Given the description of an element on the screen output the (x, y) to click on. 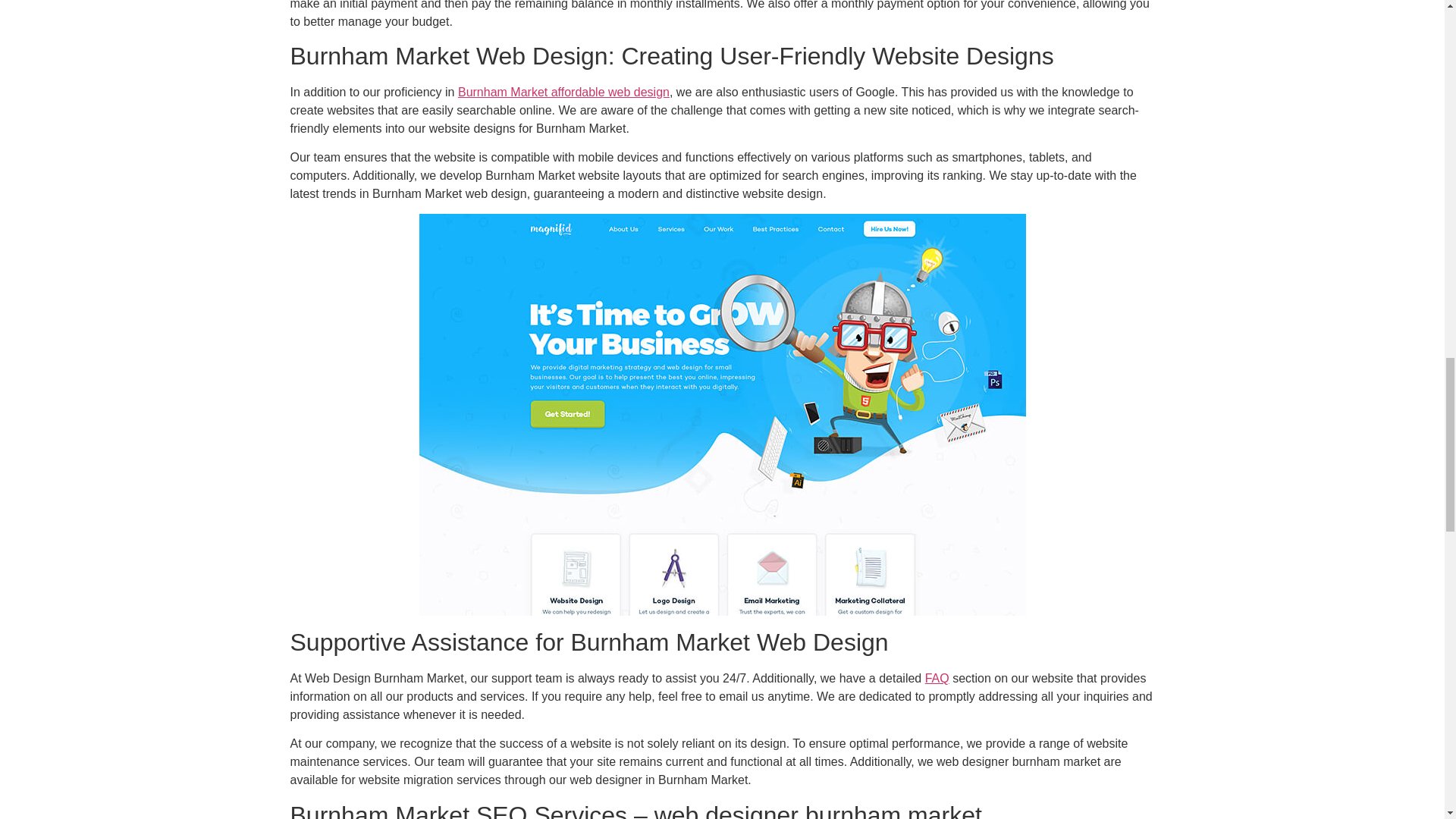
FAQ (936, 677)
Burnham Market affordable web design (563, 91)
FAQ (936, 677)
